Given the description of an element on the screen output the (x, y) to click on. 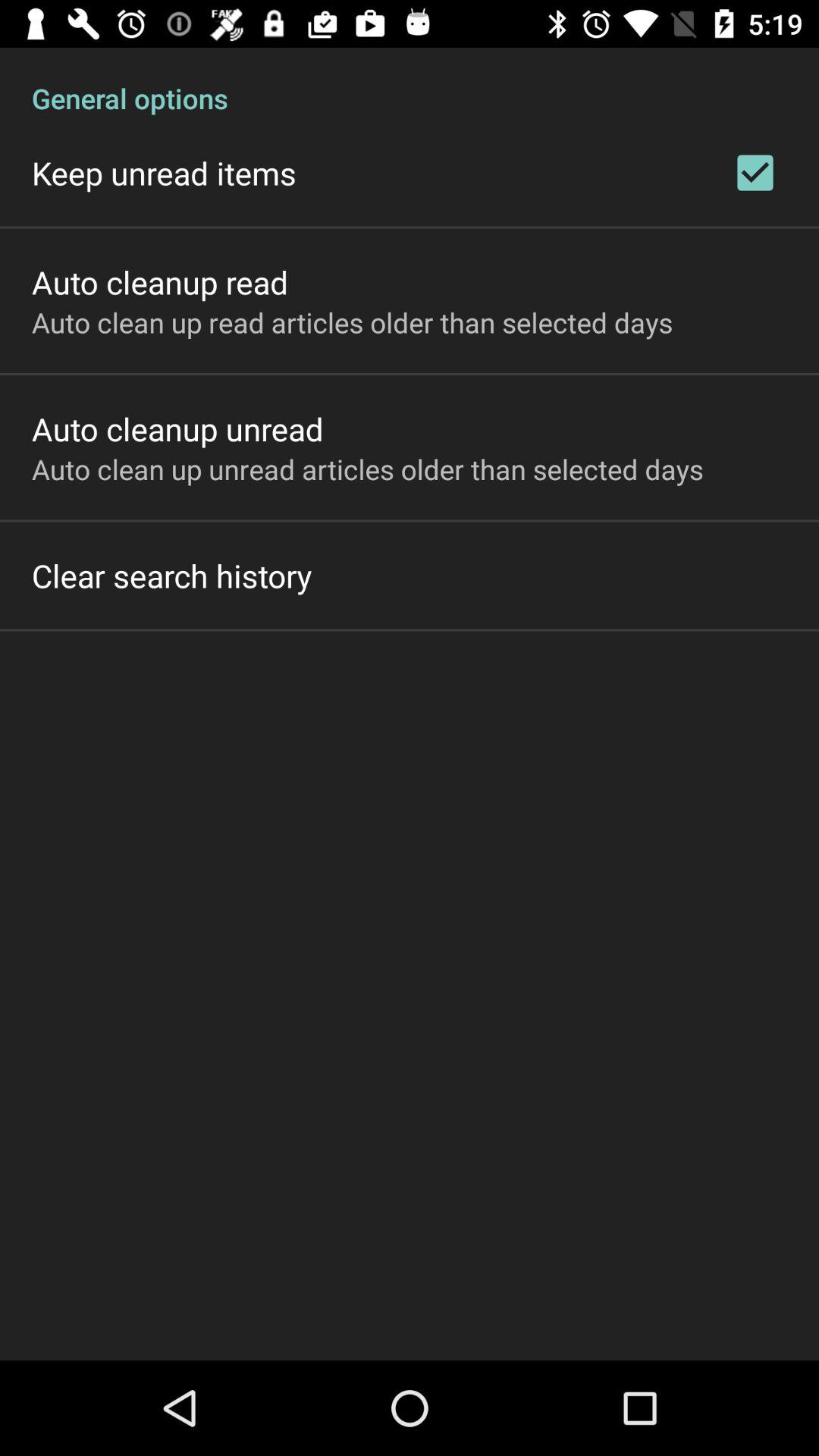
swipe until general options item (409, 82)
